Given the description of an element on the screen output the (x, y) to click on. 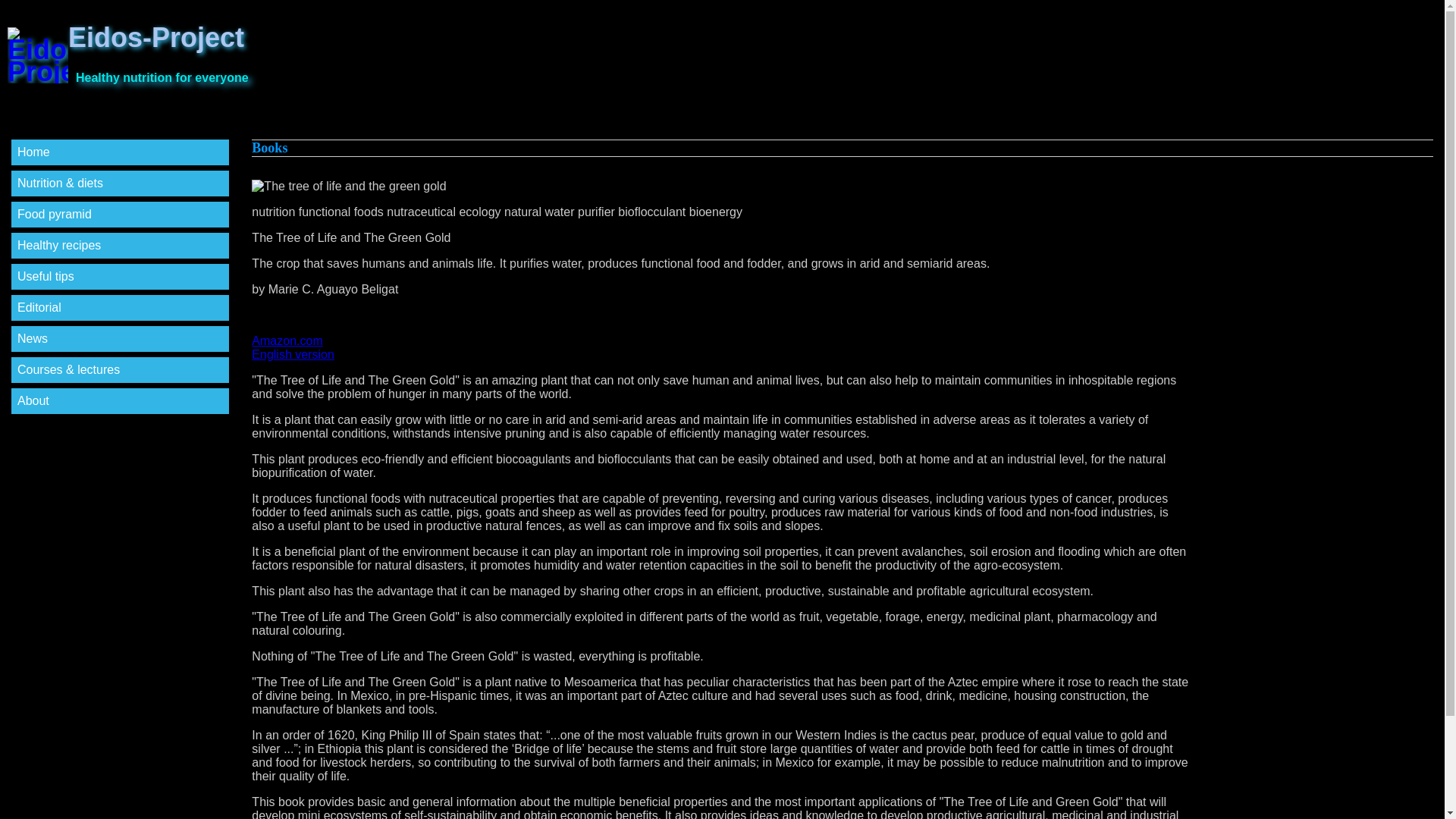
News (32, 338)
Home (33, 151)
Food pyramid (54, 214)
Editorial (721, 347)
Healthy recipes (39, 307)
Useful tips (58, 245)
About (45, 276)
